Given the description of an element on the screen output the (x, y) to click on. 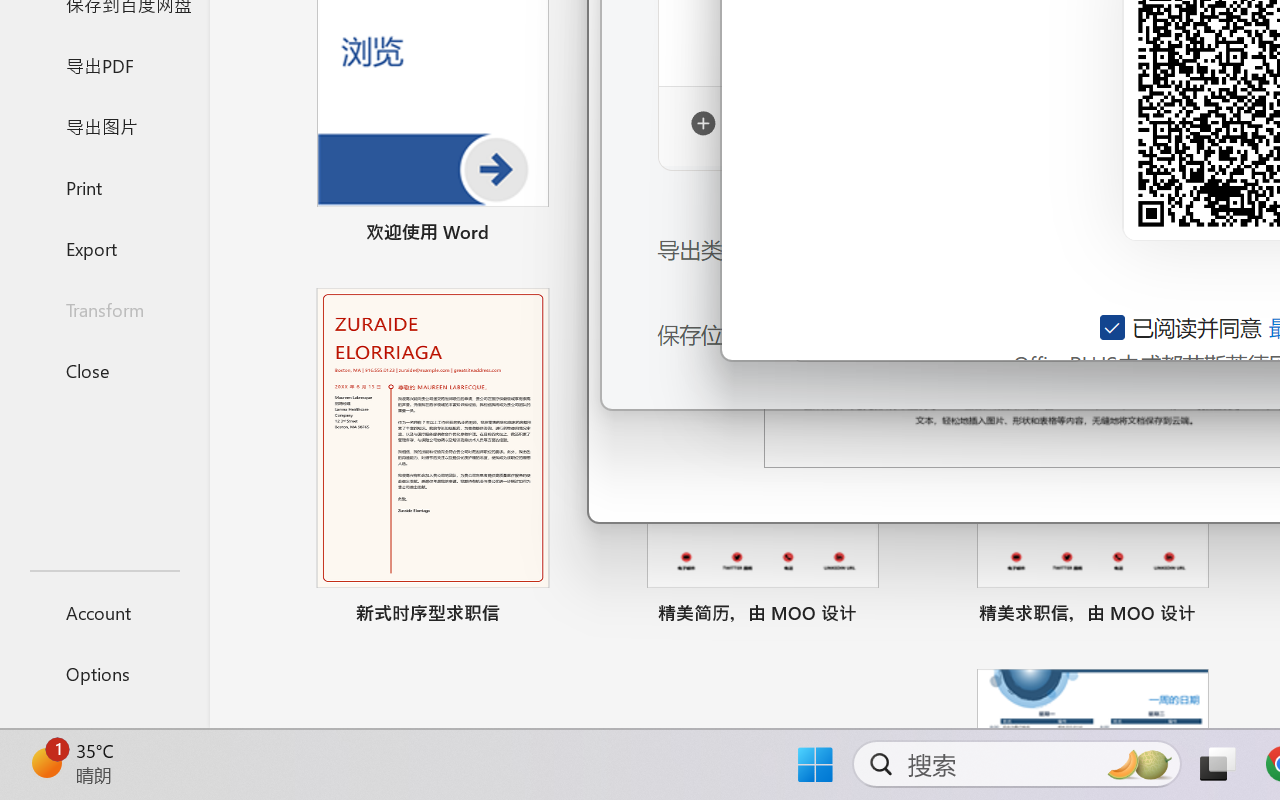
Previous Template (630, 85)
Print (104, 186)
Account (104, 612)
Export (104, 248)
Options (104, 673)
Pin to list (1223, 616)
Transform (104, 309)
